Given the description of an element on the screen output the (x, y) to click on. 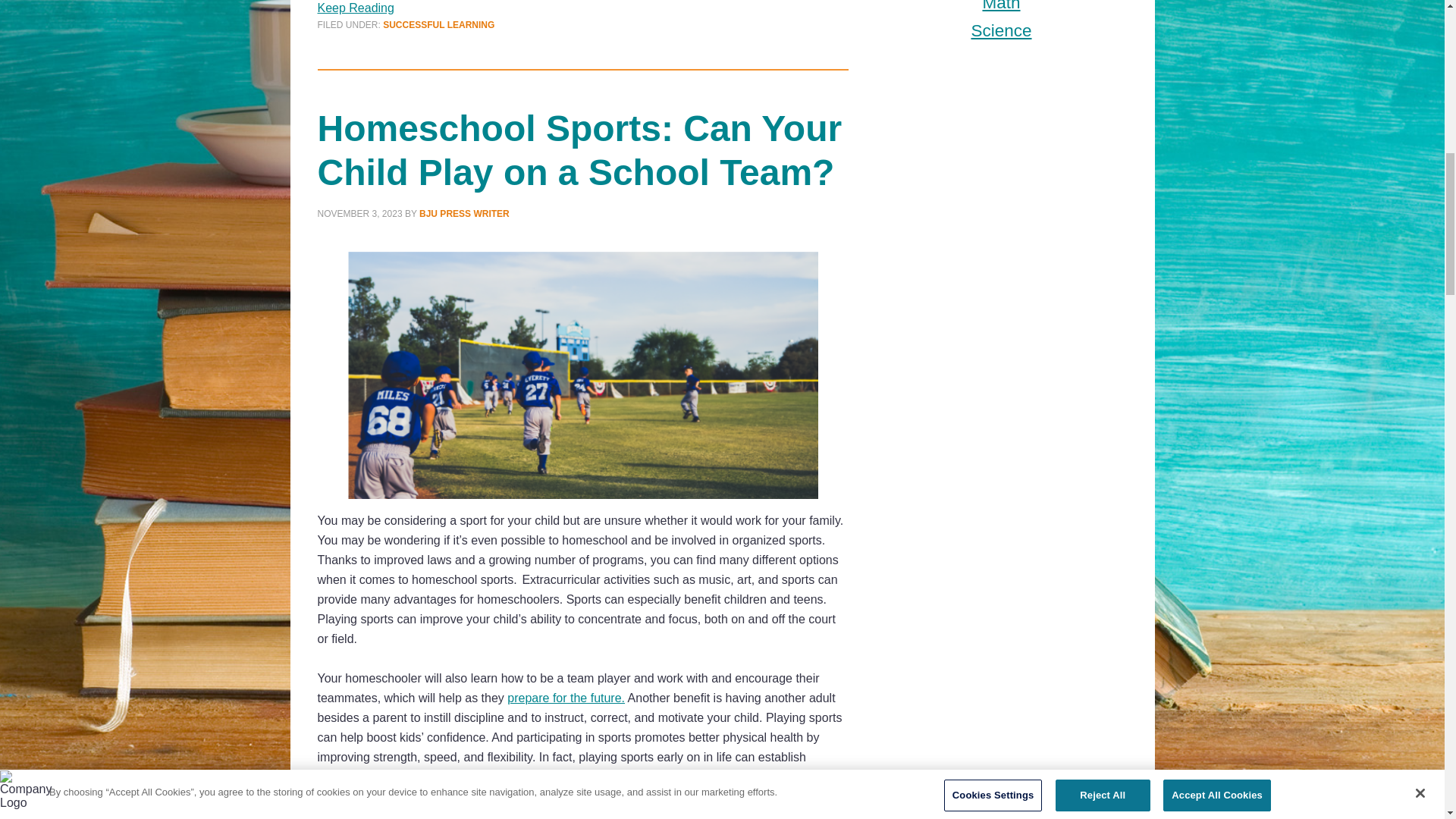
Homeschool Sports: Can Your Child Play on a School Team? (579, 150)
SUCCESSFUL LEARNING (438, 24)
prepare for the future. (565, 697)
BJU PRESS WRITER (464, 213)
Keep Reading (355, 814)
Keep Reading (355, 7)
